Given the description of an element on the screen output the (x, y) to click on. 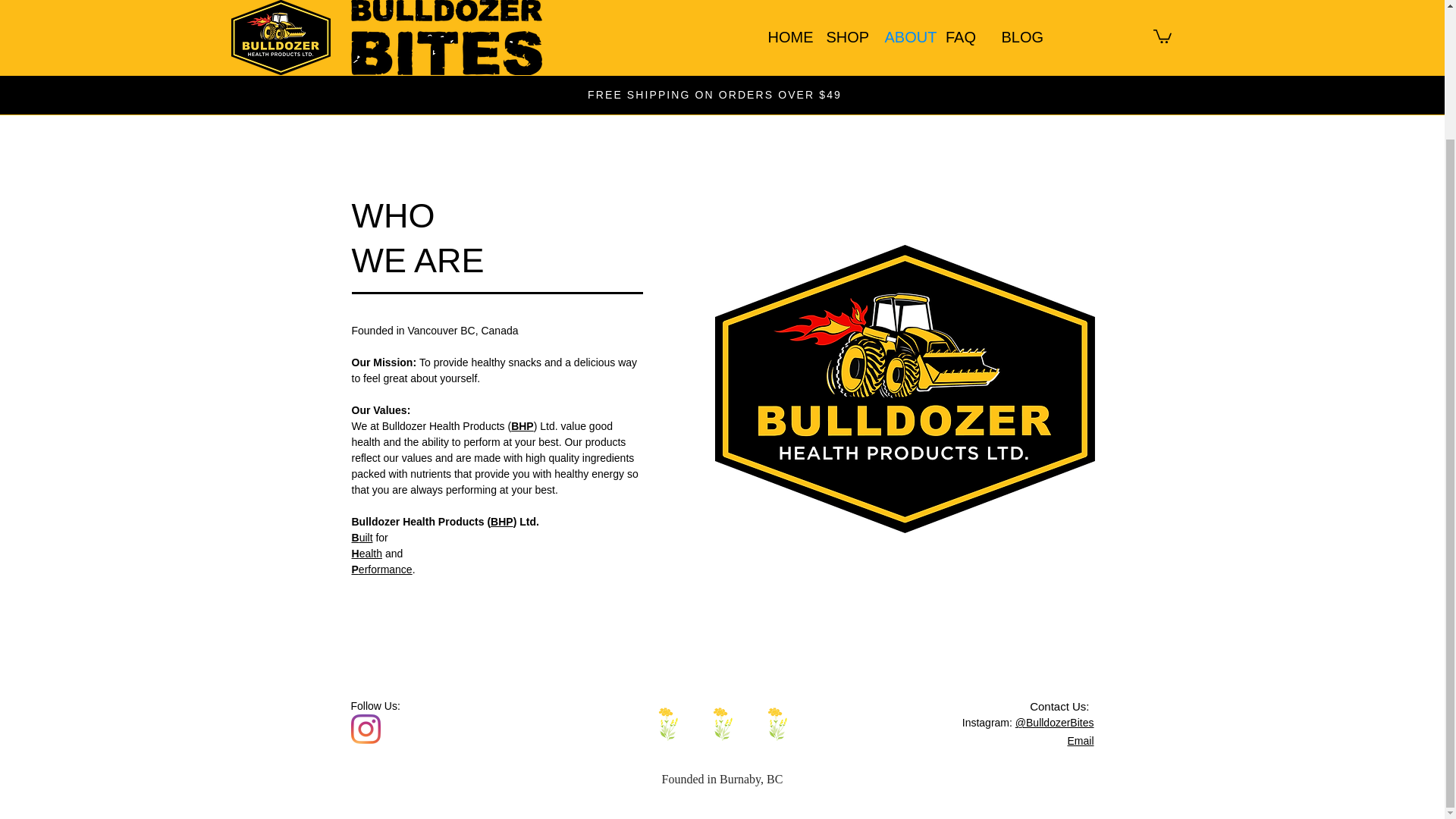
Email (1080, 740)
800px.jpg (904, 388)
